Given the description of an element on the screen output the (x, y) to click on. 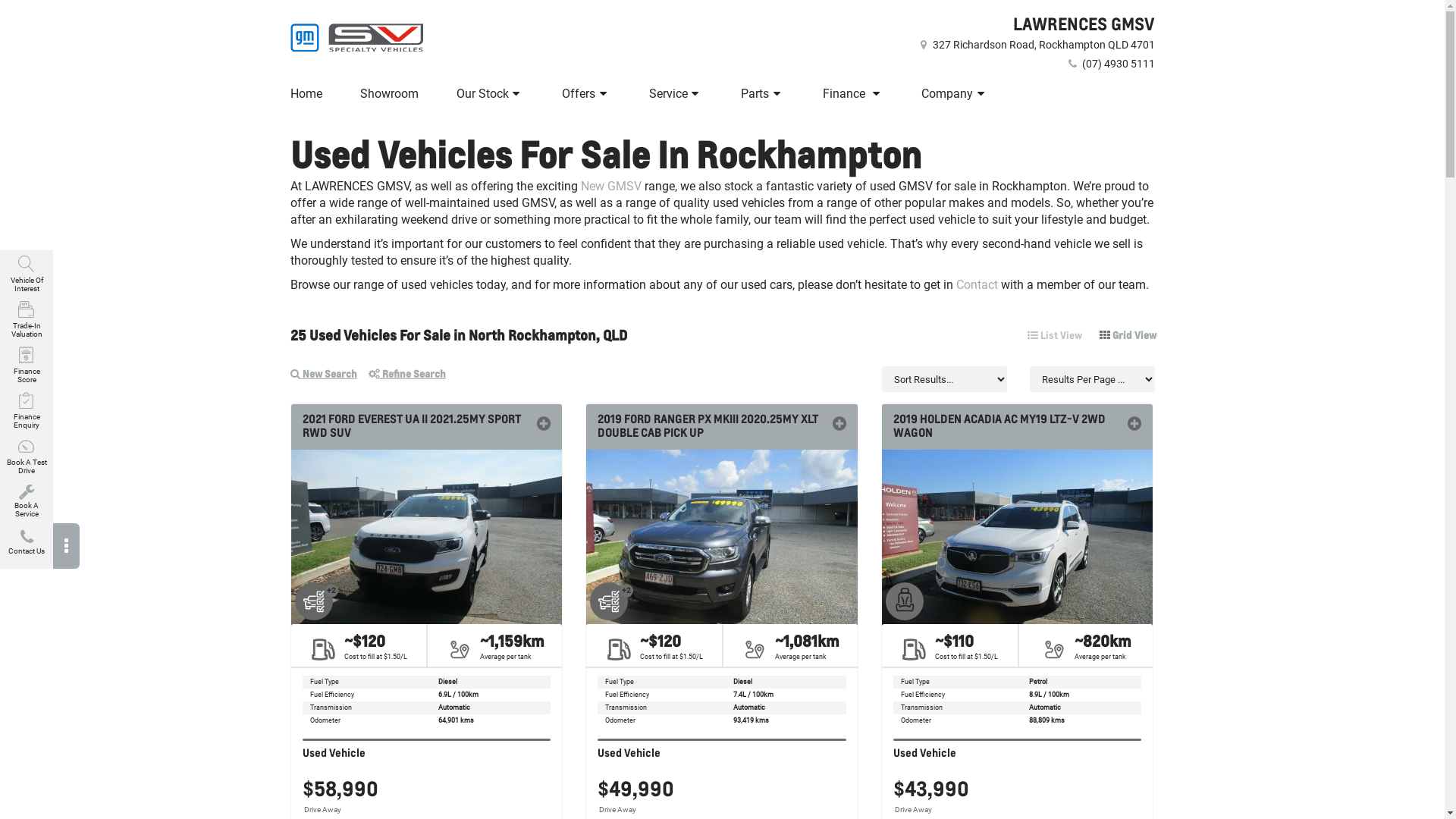
Finance Element type: text (853, 93)
New GMSV Element type: text (610, 185)
Trade-In Valuation Element type: text (26, 319)
(07) 4930 5111 Element type: text (1110, 63)
2019 FORD RANGER PX MKIII 2020.25MY XLT DOUBLE CAB PICK UP Element type: text (721, 425)
2019 HOLDEN ACADIA AC MY19 LTZ-V 2WD WAGON Element type: text (1017, 425)
Book A Service Element type: text (26, 500)
List View Element type: text (1054, 335)
New Search Element type: text (328, 379)
Finance Enquiry Element type: text (26, 410)
Showroom Element type: text (389, 93)
327 Richardson Road, Rockhampton QLD 4701 Element type: text (1035, 44)
Grid View Element type: text (1127, 335)
Parts Element type: text (762, 93)
Book A Test Drive Element type: text (26, 456)
Vehicle Of Interest Element type: text (26, 274)
Our Stock Element type: text (489, 93)
2021 FORD EVEREST UA II 2021.25MY SPORT RWD SUV Element type: text (425, 425)
Service Element type: text (676, 93)
Contact Us Element type: text (26, 546)
Home Element type: text (307, 93)
Finance Score Element type: text (26, 365)
Company Element type: text (954, 93)
Refine Search Element type: text (412, 379)
Contact Element type: text (976, 284)
Offers Element type: text (586, 93)
